Given the description of an element on the screen output the (x, y) to click on. 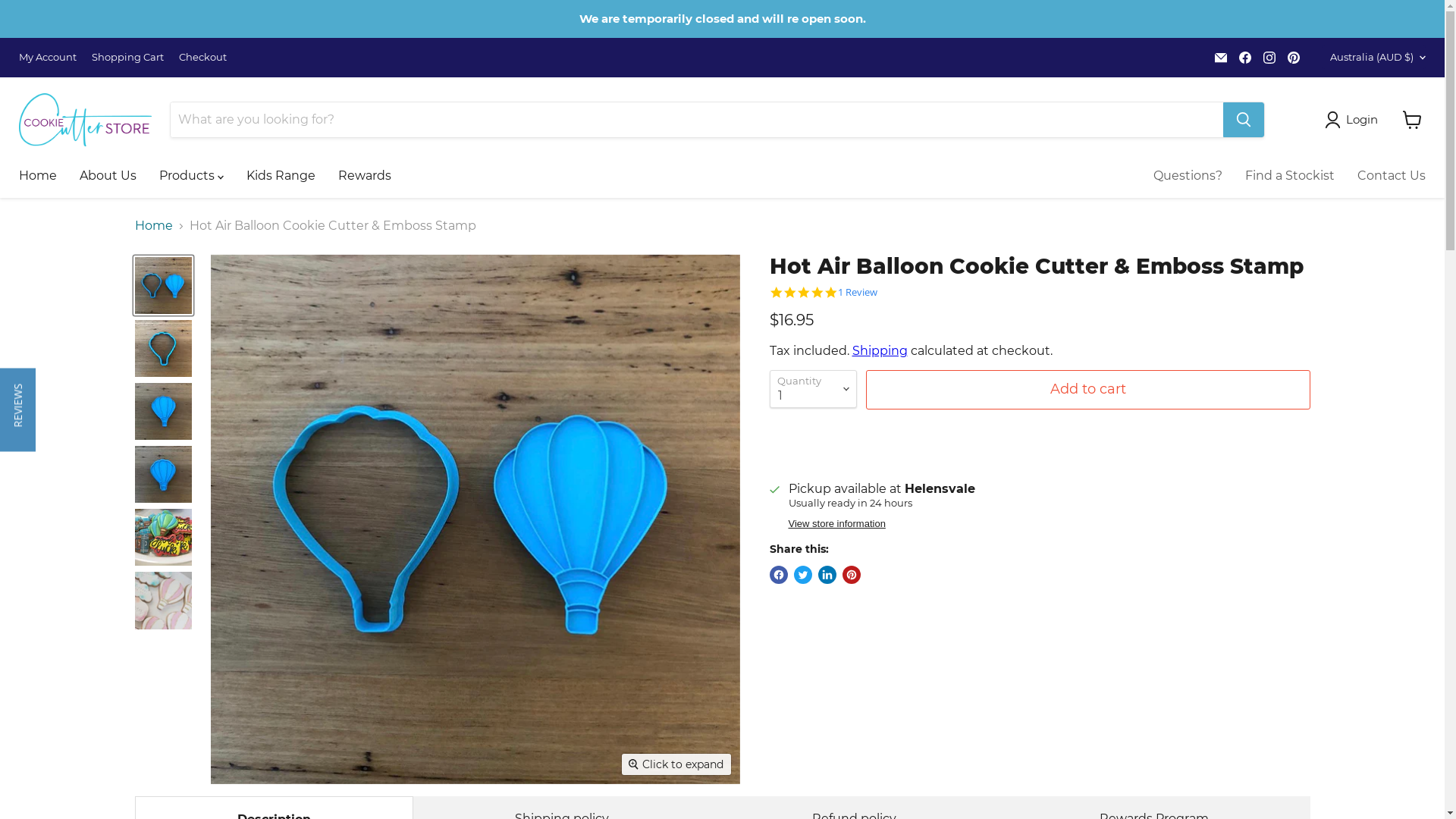
Australia (AUD $) Element type: text (1373, 57)
Questions? Element type: text (1187, 175)
Checkout Element type: text (202, 56)
Pin on Pinterest Element type: text (850, 574)
Find a Stockist Element type: text (1289, 175)
Shopping Cart Element type: text (127, 56)
About Us Element type: text (107, 175)
View store information Element type: text (836, 524)
Email Cookie Cutter Store Element type: text (1220, 57)
Home Element type: text (153, 225)
1 Review Element type: text (856, 292)
Kids Range Element type: text (280, 175)
Login Element type: text (1353, 119)
Share on LinkedIn Element type: text (826, 574)
Home Element type: text (37, 175)
Shipping Element type: text (879, 350)
Find us on Facebook Element type: text (1244, 57)
Share on Facebook Element type: text (777, 574)
Rewards Element type: text (364, 175)
My Account Element type: text (47, 56)
Add to cart Element type: text (1088, 389)
View cart Element type: text (1412, 119)
Tweet on Twitter Element type: text (802, 574)
Contact Us Element type: text (1391, 175)
Find us on Instagram Element type: text (1269, 57)
Click to expand Element type: text (676, 764)
Find us on Pinterest Element type: text (1293, 57)
